Given the description of an element on the screen output the (x, y) to click on. 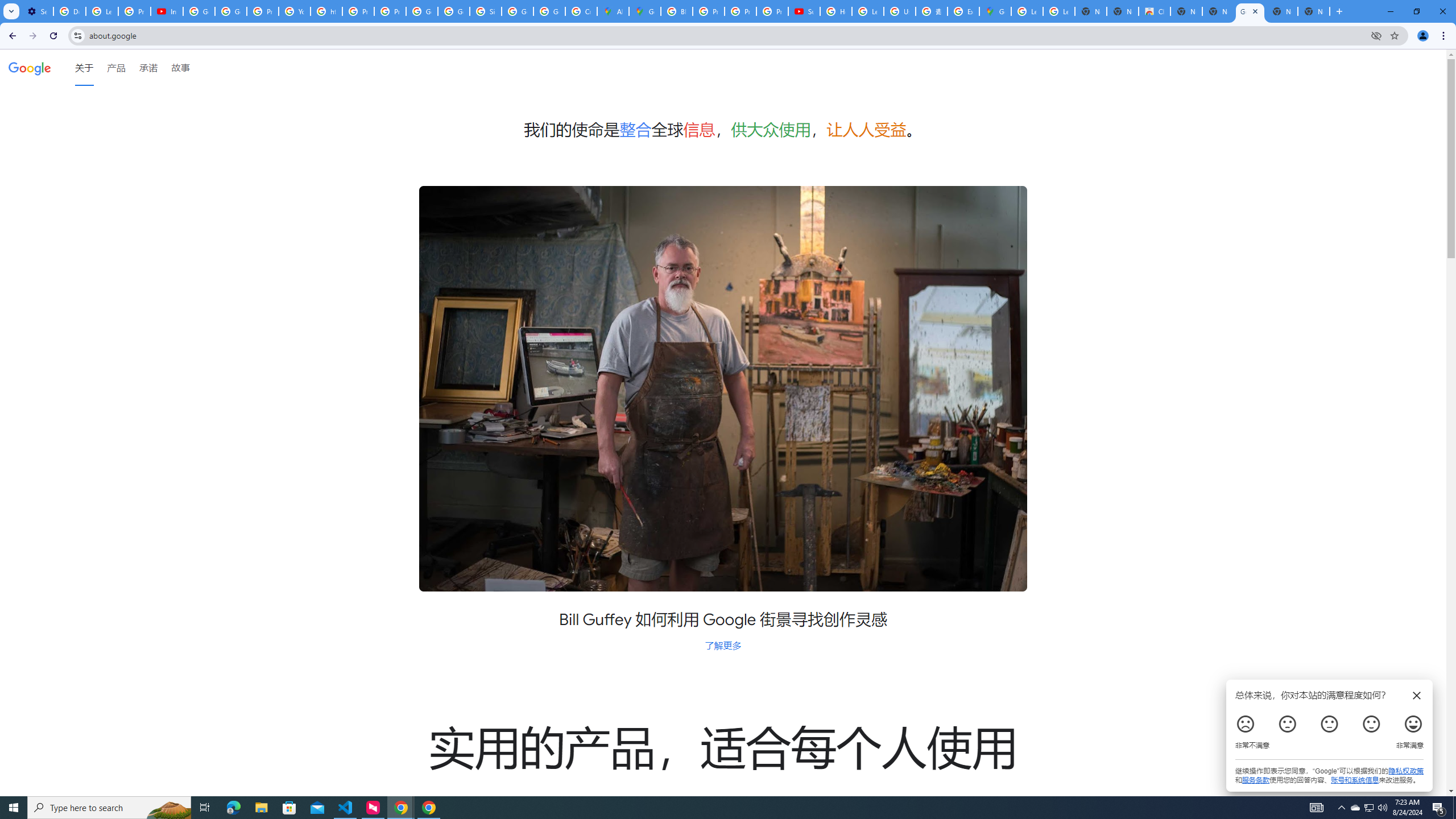
Google Account Help (198, 11)
Google Maps (644, 11)
Delete photos & videos - Computer - Google Photos Help (69, 11)
Google Maps (995, 11)
